Given the description of an element on the screen output the (x, y) to click on. 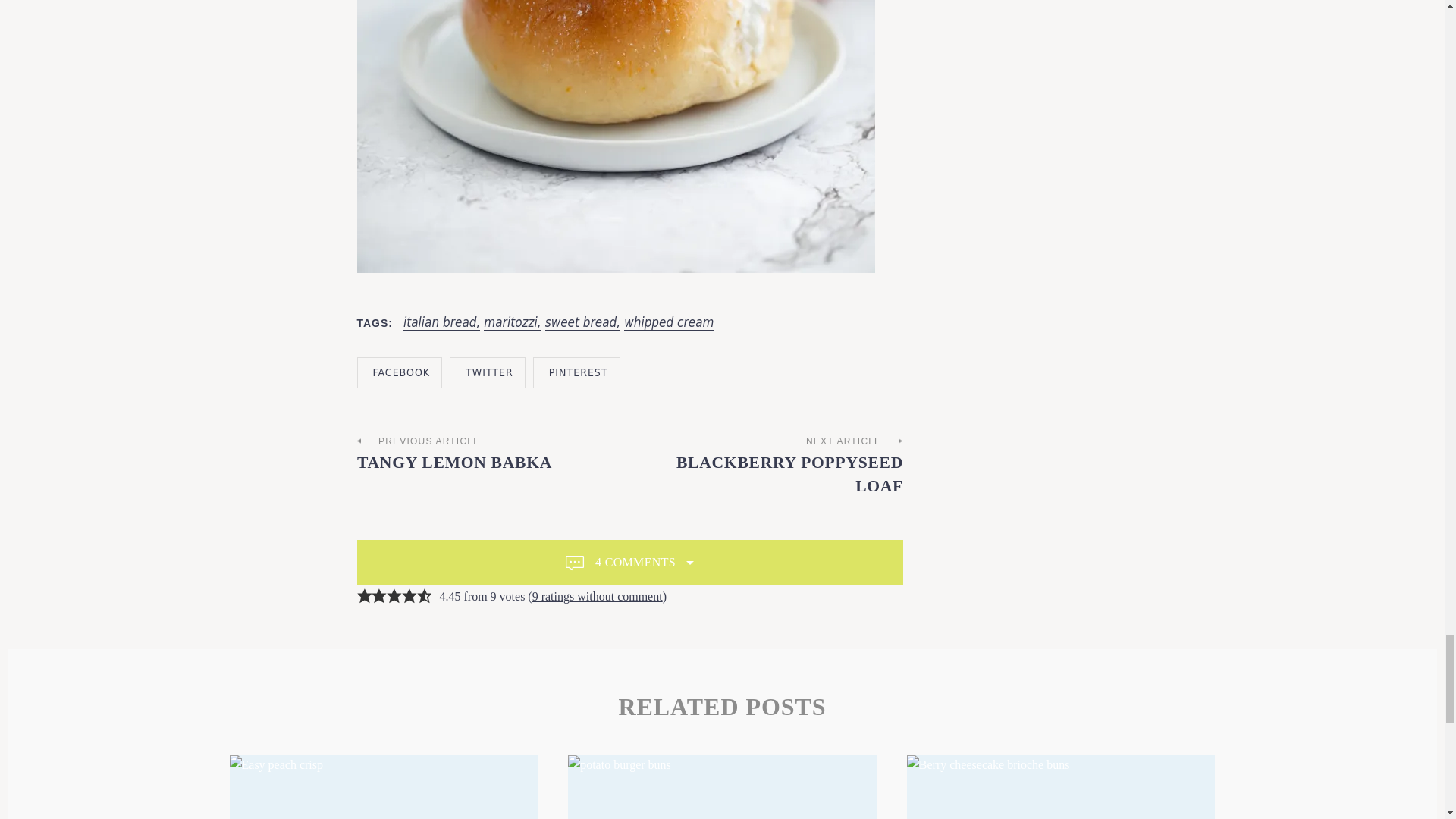
maritozzi (511, 322)
FACEBOOK (399, 372)
whipped cream (668, 322)
TWITTER (487, 372)
TANGY LEMON BABKA (453, 462)
Click to share on Pinterest (576, 372)
BLACKBERRY POPPYSEED LOAF (789, 474)
sweet bread (582, 322)
italian bread (441, 322)
PINTEREST (576, 372)
